Given the description of an element on the screen output the (x, y) to click on. 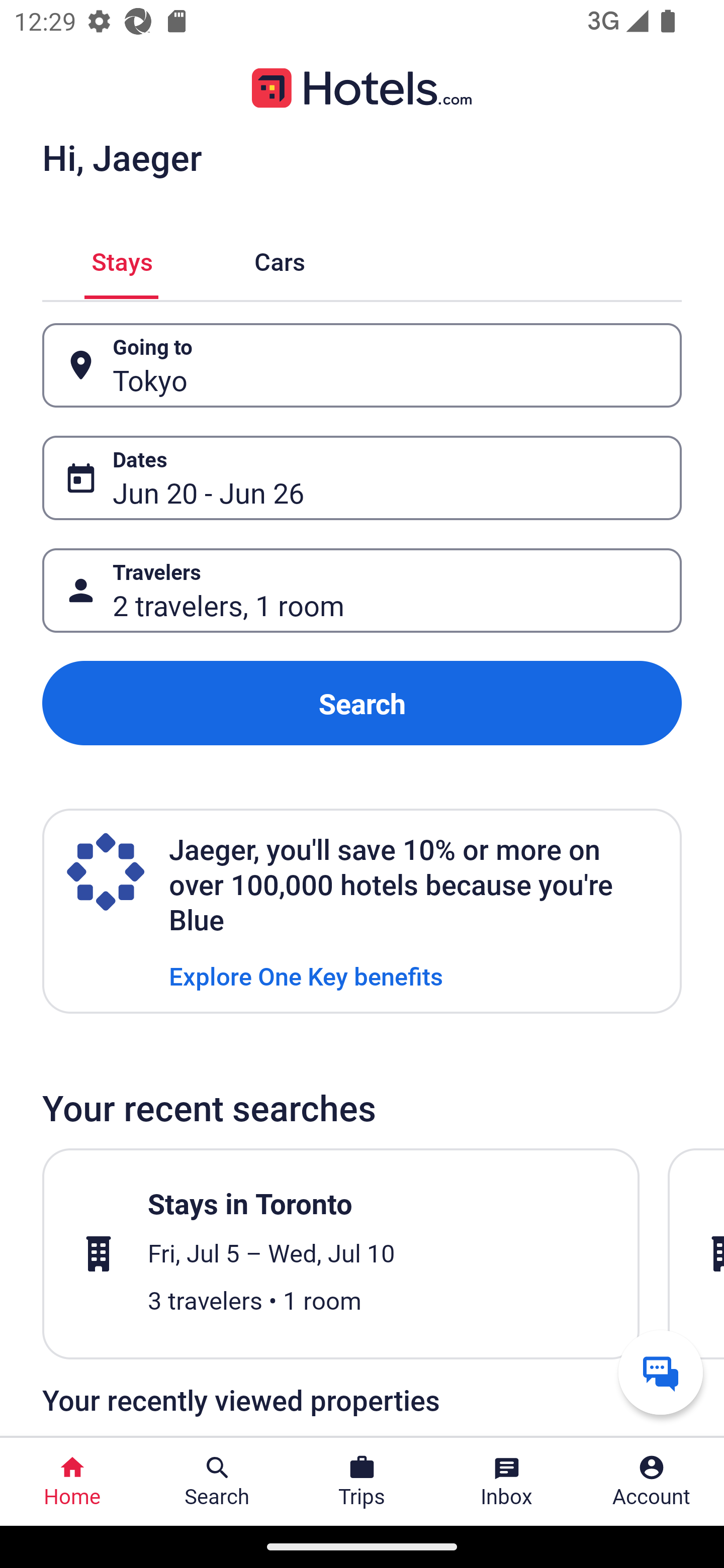
Hi, Jaeger (121, 156)
Cars (279, 259)
Going to Button Tokyo (361, 365)
Dates Button Jun 20 - Jun 26 (361, 477)
Travelers Button 2 travelers, 1 room (361, 590)
Search (361, 702)
Get help from a virtual agent (660, 1371)
Search Search Button (216, 1481)
Trips Trips Button (361, 1481)
Inbox Inbox Button (506, 1481)
Account Profile. Button (651, 1481)
